Given the description of an element on the screen output the (x, y) to click on. 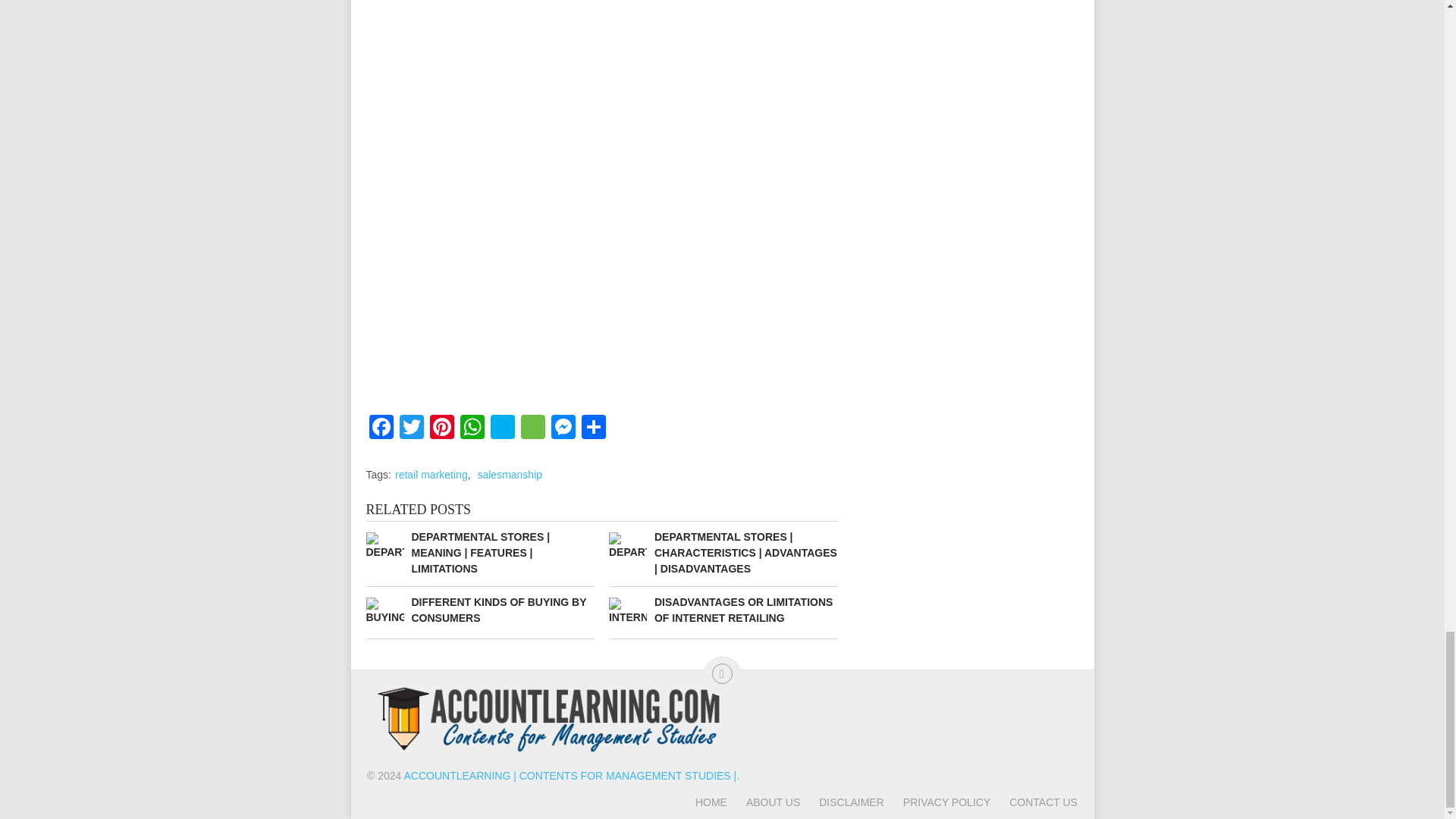
Twitter (411, 428)
WhatsApp (471, 428)
Facebook (380, 428)
Message (531, 428)
Different Kinds of Buying by Consumers (479, 610)
Messenger (562, 428)
retail marketing (430, 474)
Functions, Duties and Responsibilities of a Salesman (601, 84)
WhatsApp (471, 428)
Messenger (562, 428)
Disadvantages or Limitations of Internet retailing (723, 610)
Pinterest (441, 428)
Share (593, 428)
Pinterest (441, 428)
